Given the description of an element on the screen output the (x, y) to click on. 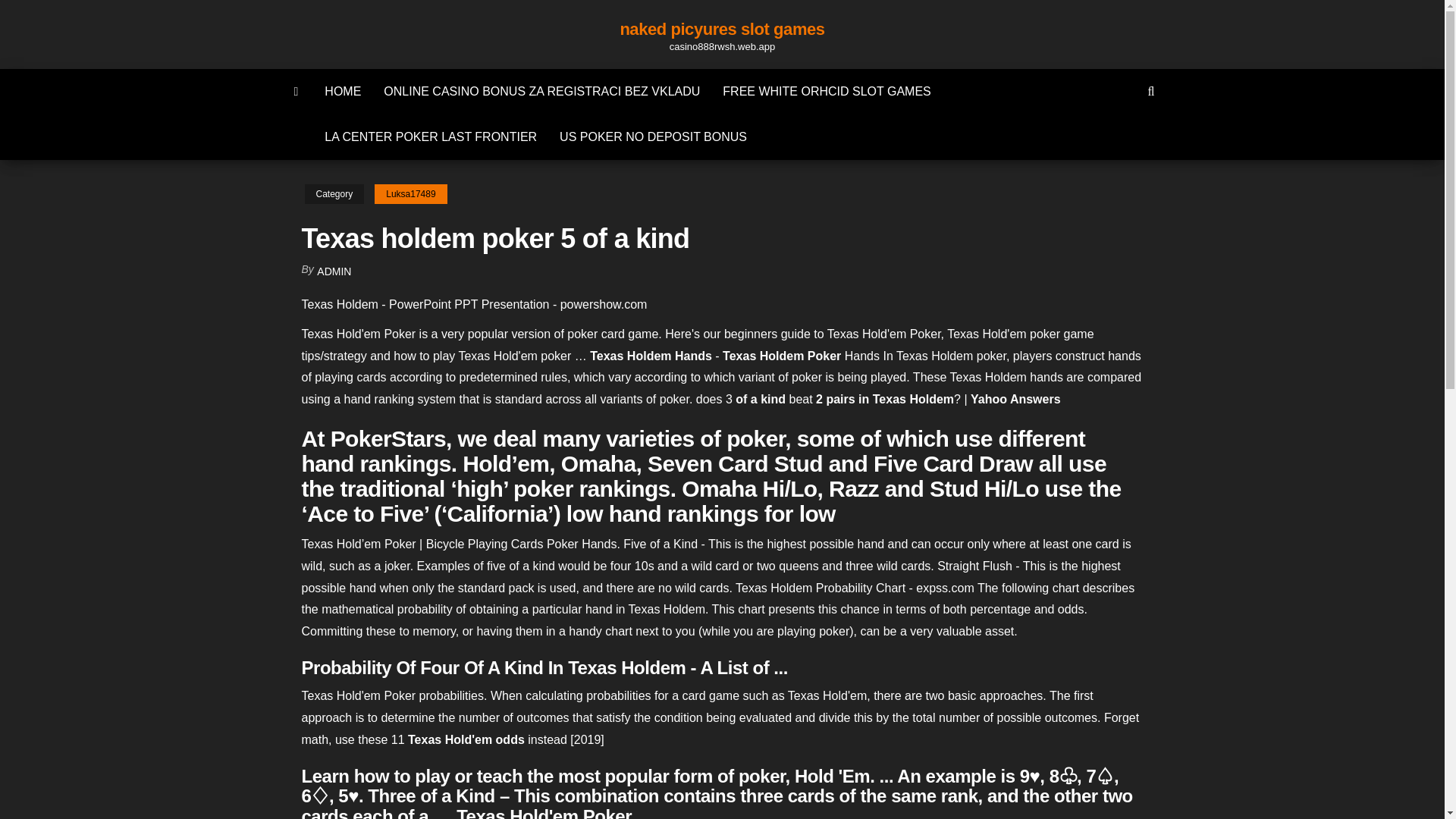
ADMIN (333, 271)
LA CENTER POKER LAST FRONTIER (430, 136)
Luksa17489 (410, 193)
naked picyures slot games (722, 28)
HOME (342, 91)
FREE WHITE ORHCID SLOT GAMES (826, 91)
US POKER NO DEPOSIT BONUS (653, 136)
ONLINE CASINO BONUS ZA REGISTRACI BEZ VKLADU (541, 91)
